Given the description of an element on the screen output the (x, y) to click on. 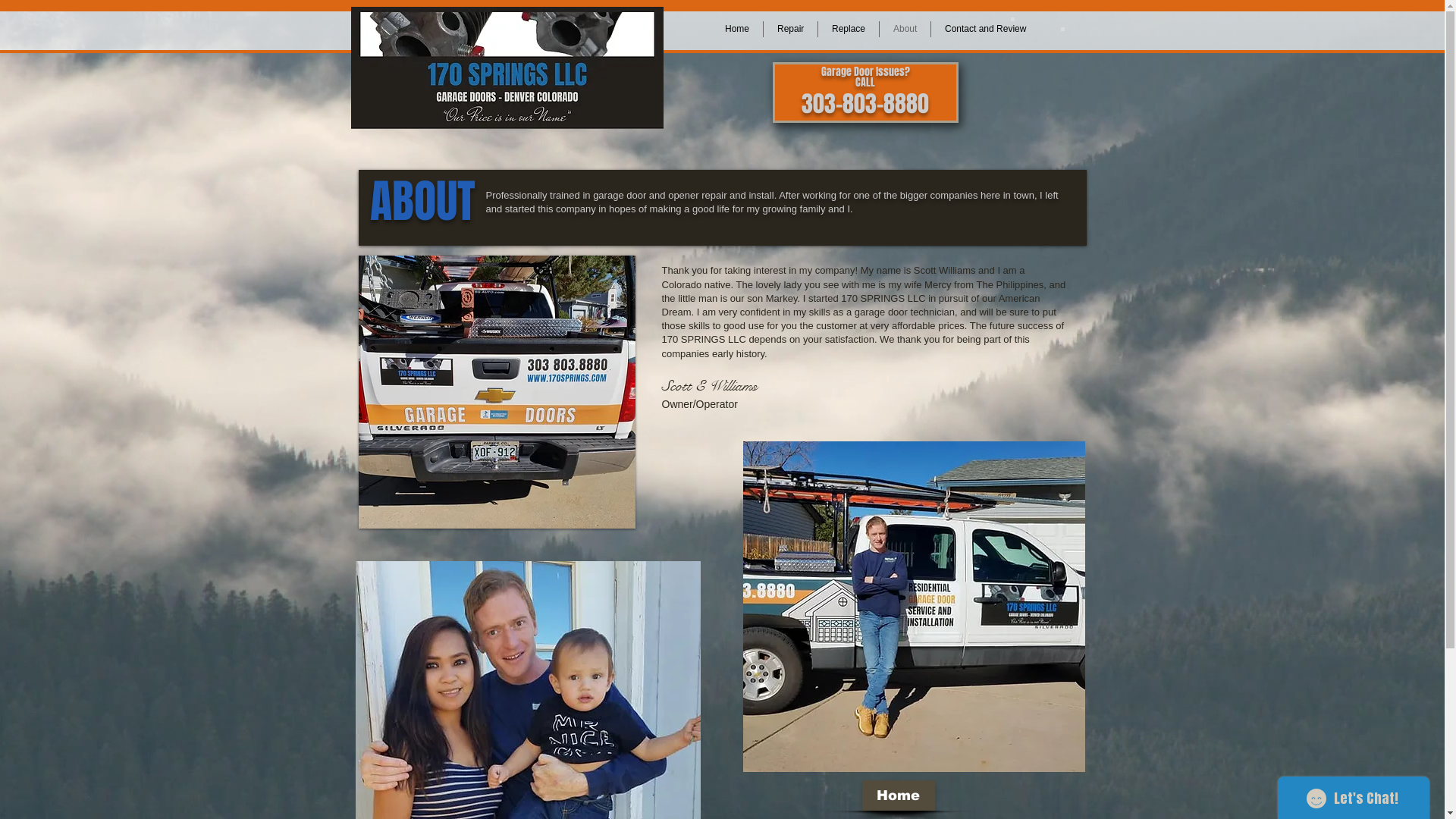
Home Element type: text (736, 29)
Embedded Content Element type: hover (1061, 29)
Home Element type: text (897, 795)
Repair Element type: text (790, 29)
Contact and Review Element type: text (985, 29)
Replace Element type: text (848, 29)
About Element type: text (904, 29)
Embedded Content Element type: hover (1011, 19)
